Given the description of an element on the screen output the (x, y) to click on. 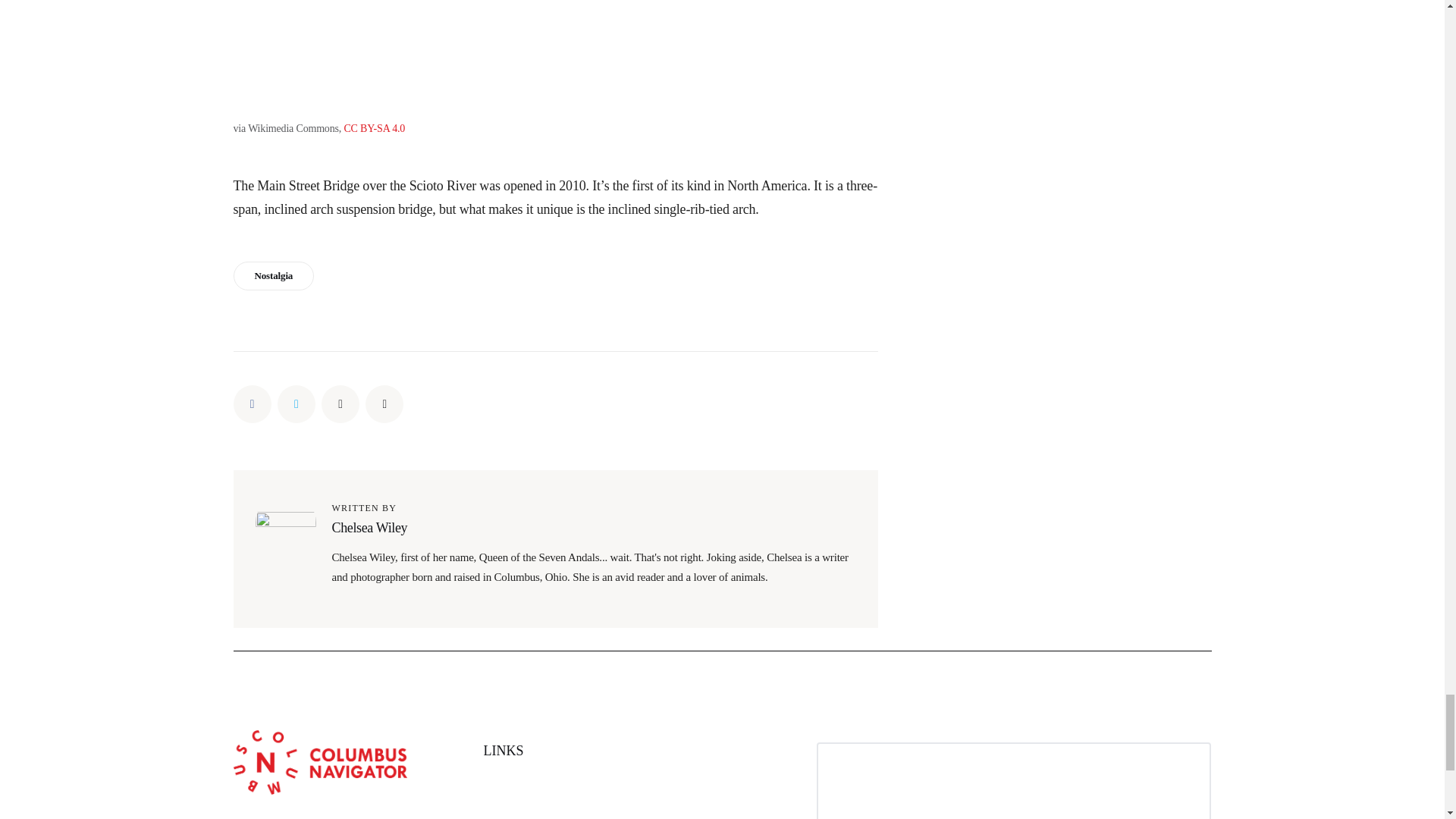
CC BY-SA 4.0 (373, 128)
Nostalgia (273, 275)
Copy URL to clipboard (384, 403)
